Given the description of an element on the screen output the (x, y) to click on. 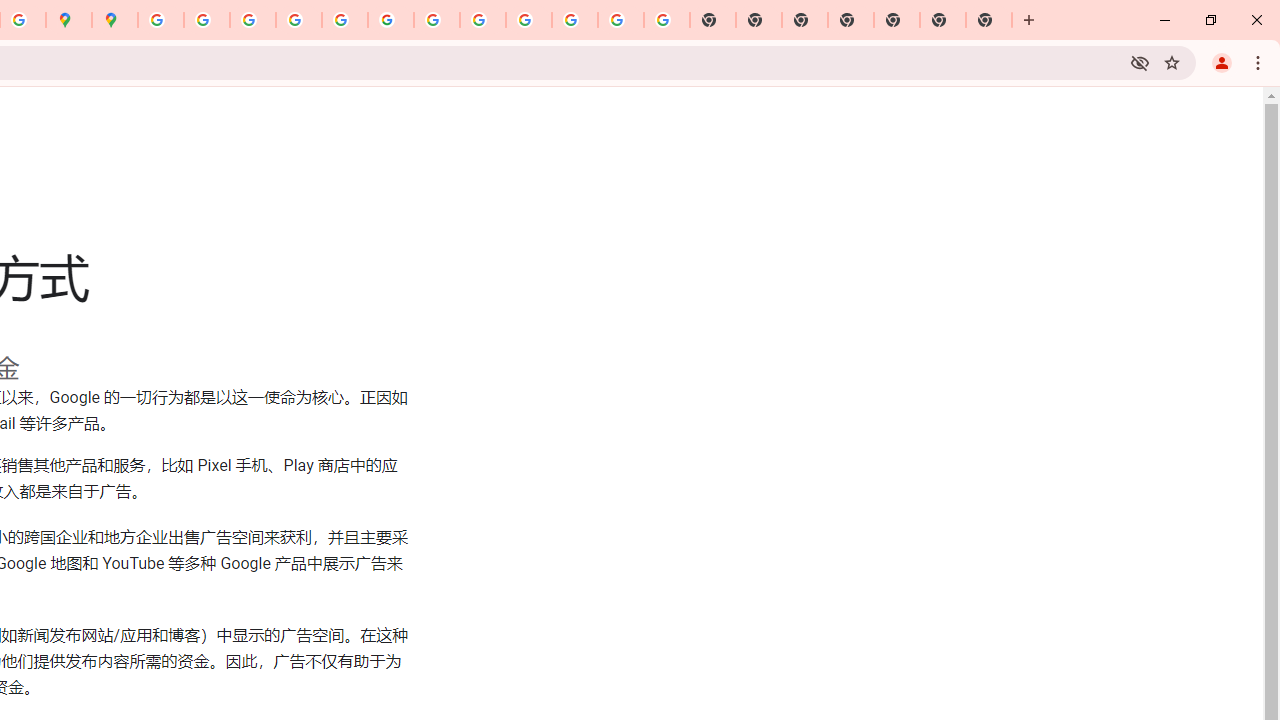
Privacy Help Center - Policies Help (299, 20)
New Tab (943, 20)
